Given the description of an element on the screen output the (x, y) to click on. 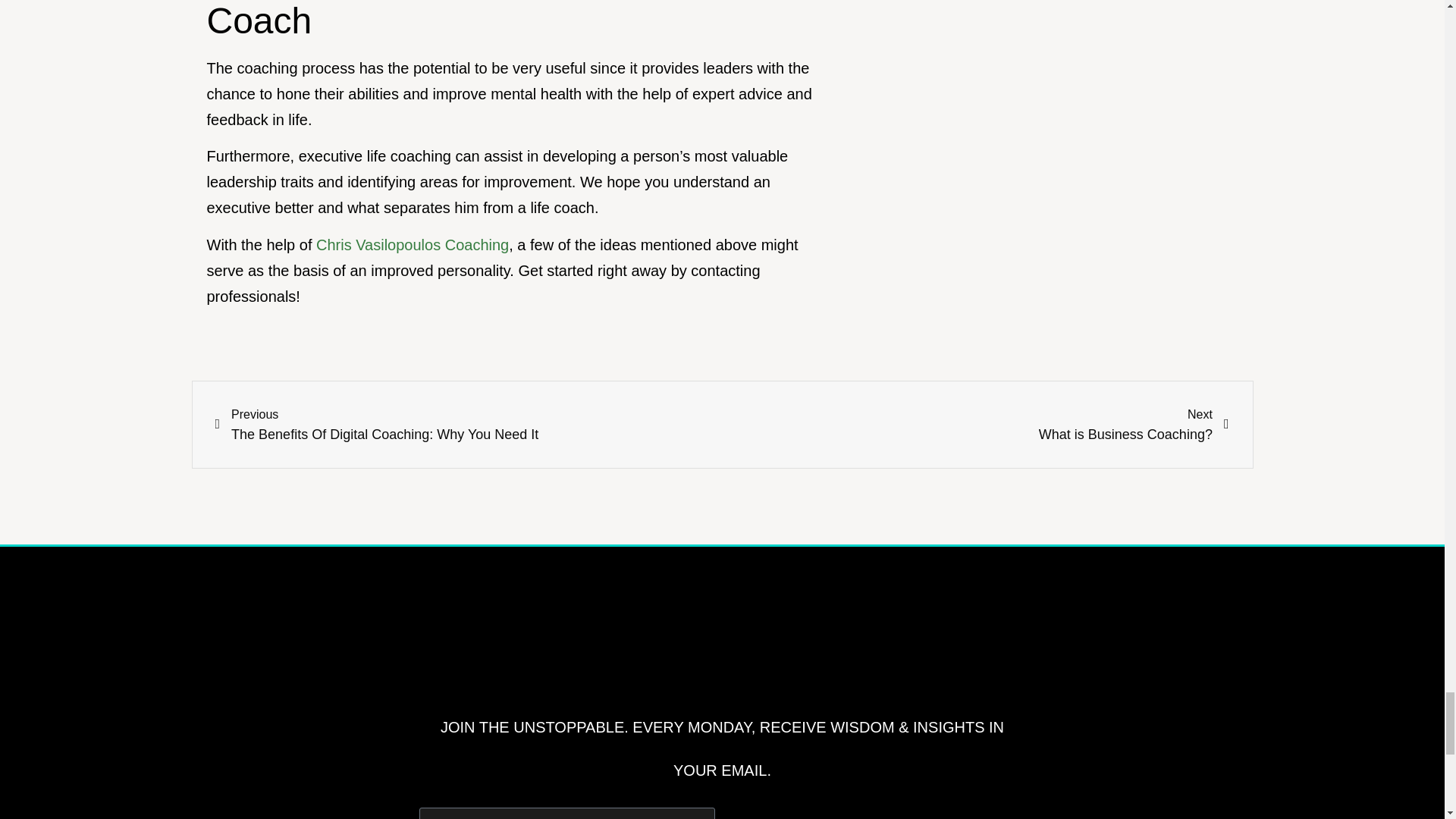
Send it (975, 424)
Chris Vasilopoulos Coaching (877, 814)
